Given the description of an element on the screen output the (x, y) to click on. 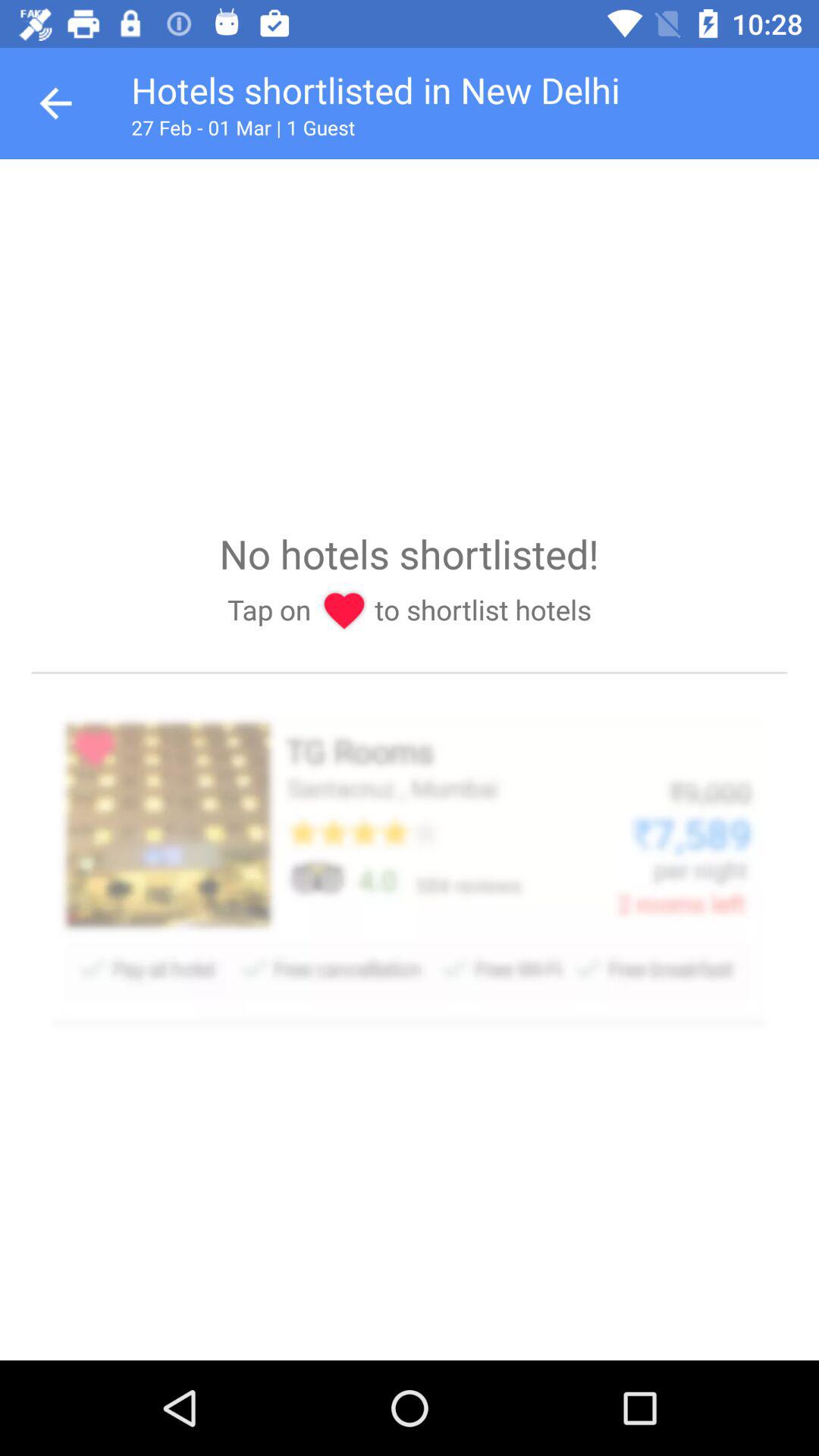
press icon to the left of the hotels shortlisted in icon (55, 103)
